Given the description of an element on the screen output the (x, y) to click on. 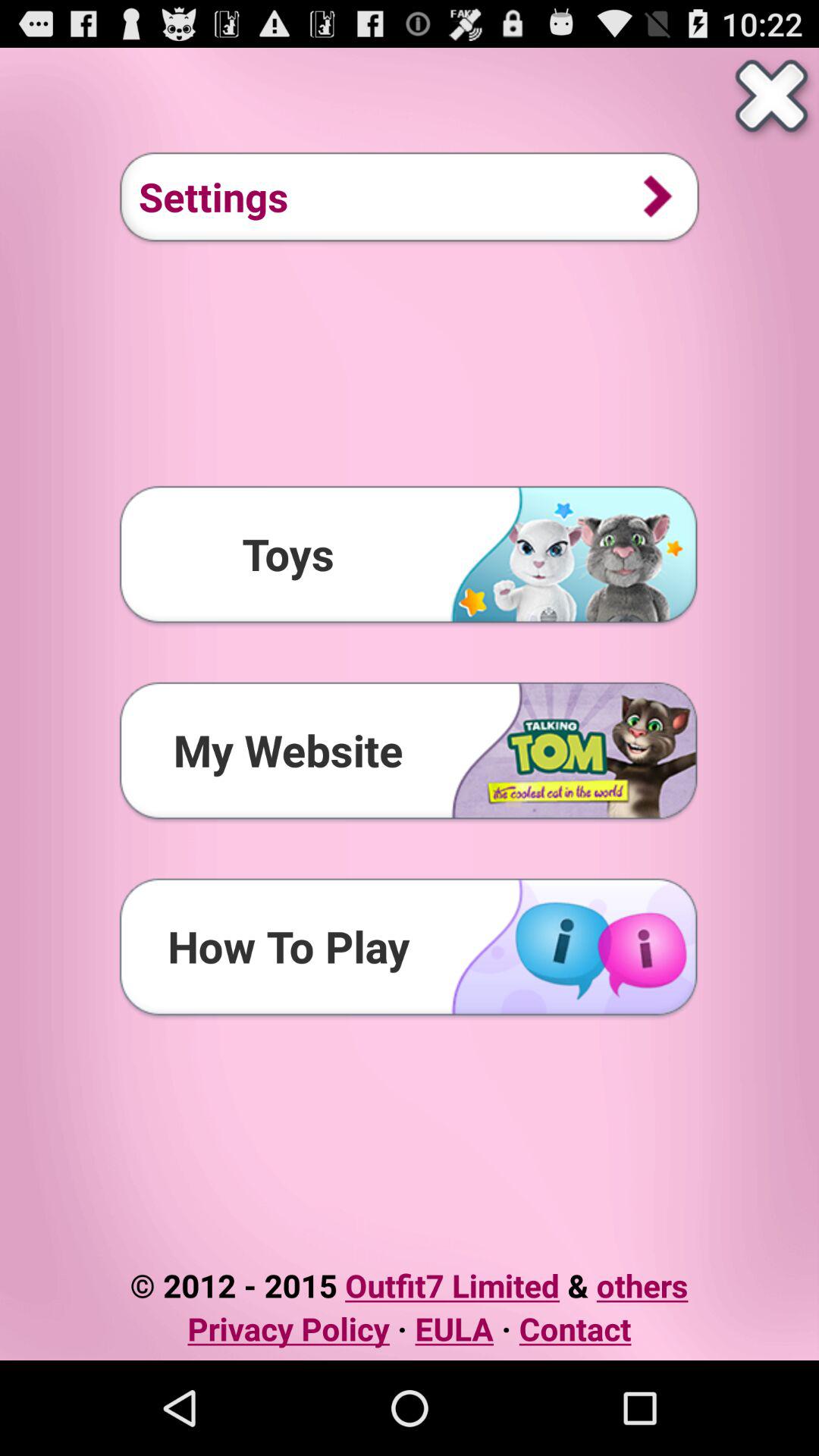
launch item below 2012 2015 outfit7 (409, 1328)
